Given the description of an element on the screen output the (x, y) to click on. 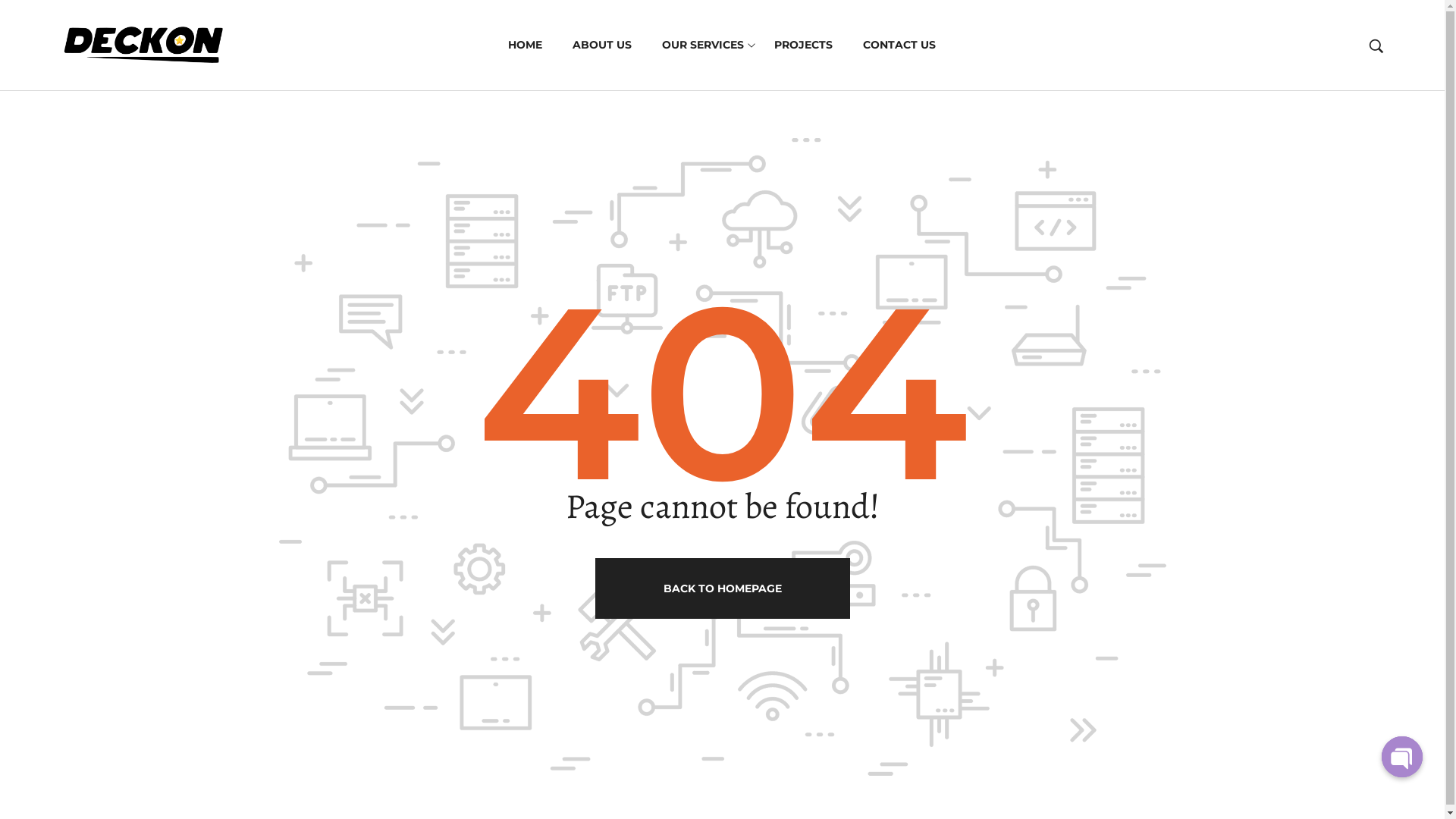
PROJECTS Element type: text (803, 45)
ABOUT US Element type: text (601, 45)
BACK TO HOMEPAGE Element type: text (721, 588)
OUR SERVICES Element type: text (702, 45)
CONTACT US Element type: text (898, 45)
HOME Element type: text (524, 45)
